Given the description of an element on the screen output the (x, y) to click on. 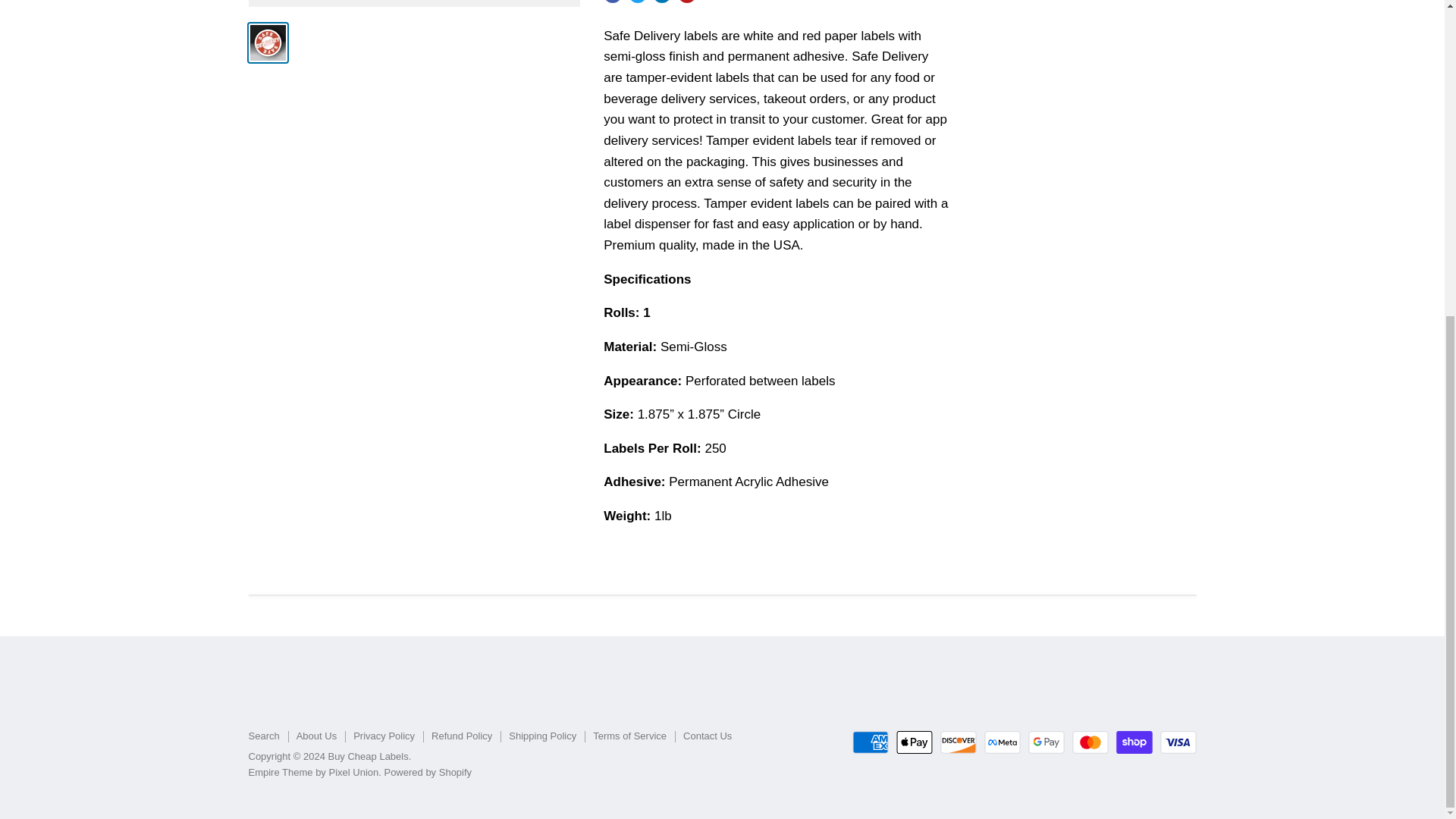
Visa (1178, 742)
Meta Pay (1002, 742)
Mastercard (1089, 742)
Discover (958, 742)
American Express (869, 742)
Google Pay (1045, 742)
Shop Pay (1134, 742)
Apple Pay (914, 742)
